Given the description of an element on the screen output the (x, y) to click on. 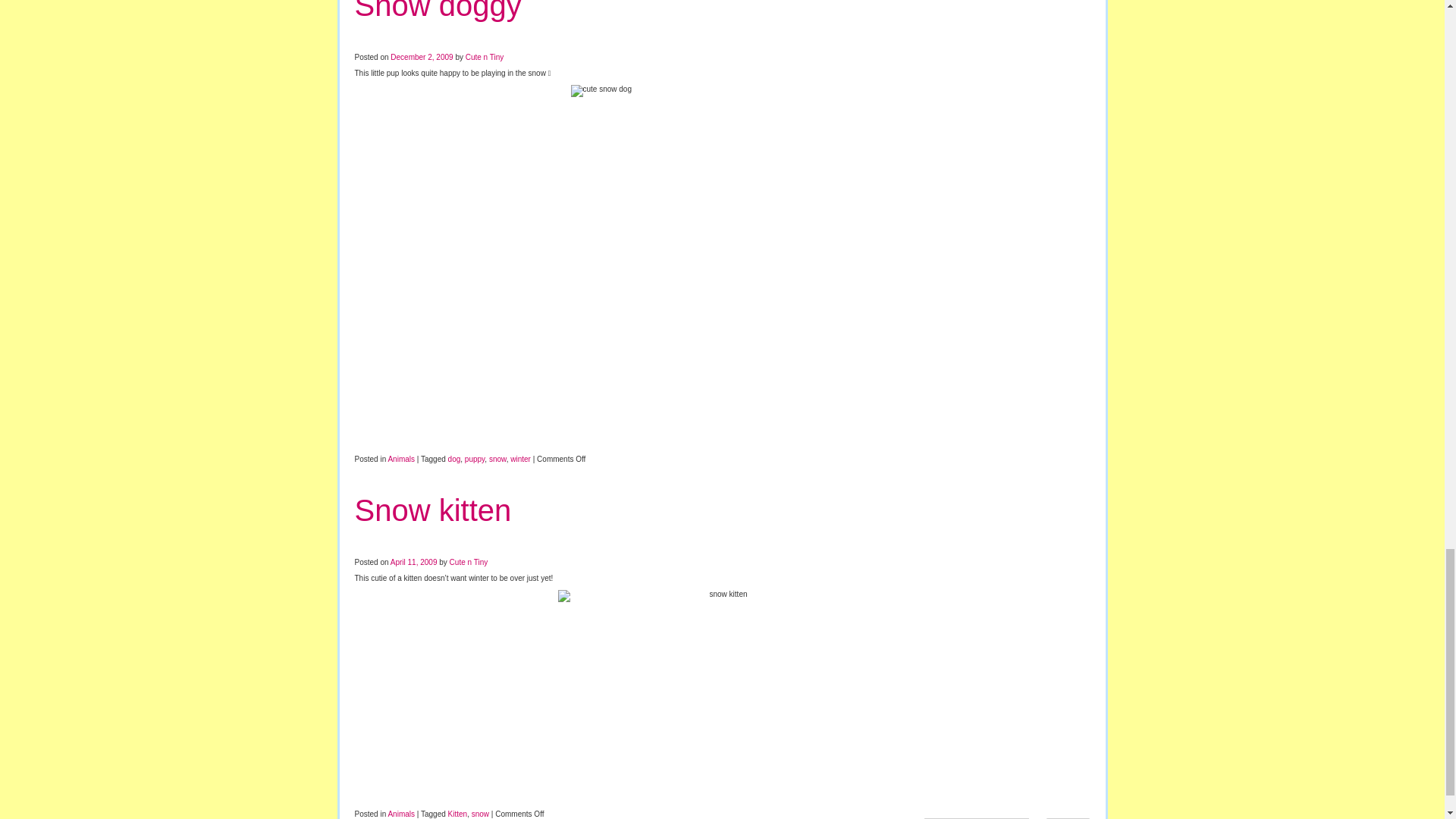
Snow doggy (438, 11)
Animals (400, 459)
snow kitten (721, 695)
puppy (474, 459)
Permalink to Snow kitten (433, 510)
winter (521, 459)
Cute n Tiny (484, 57)
View all posts by Cute n Tiny (468, 561)
Permalink to Snow doggy (438, 11)
View all posts by Cute n Tiny (484, 57)
December 2, 2009 (421, 57)
snow (497, 459)
dog (454, 459)
